Given the description of an element on the screen output the (x, y) to click on. 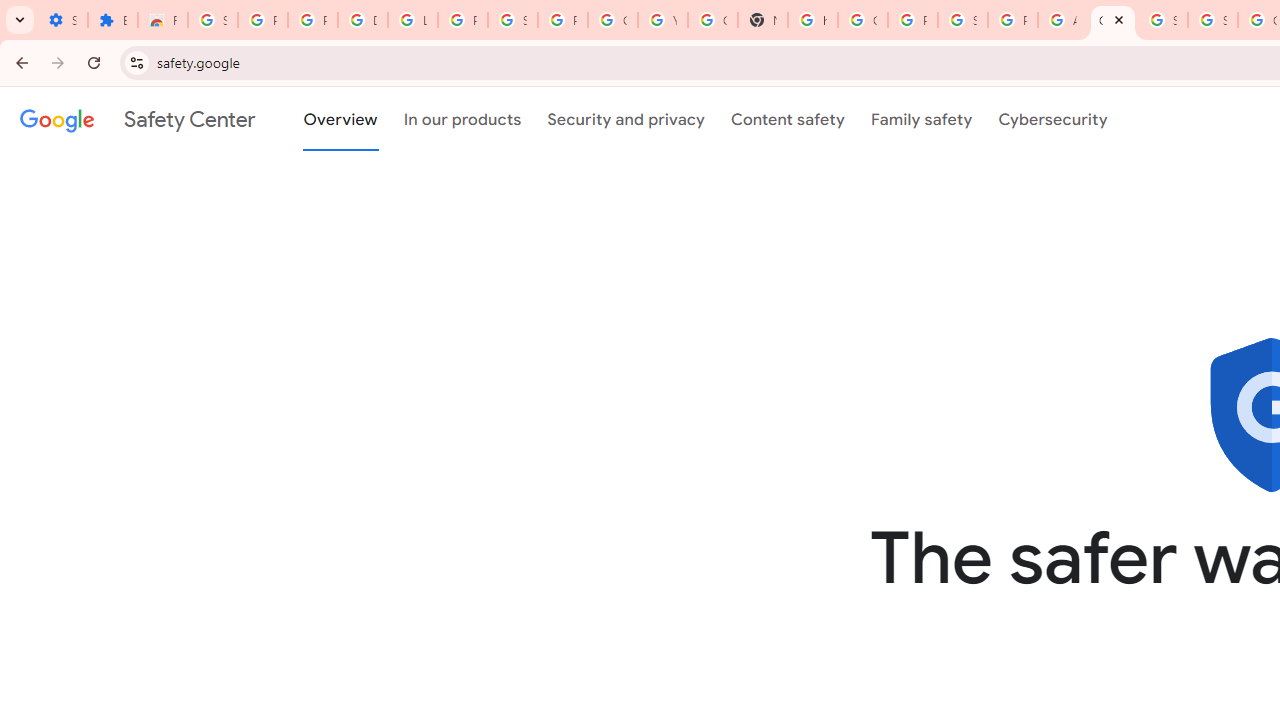
Cybersecurity (1053, 119)
Security and privacy (626, 119)
Sign in - Google Accounts (213, 20)
Reviews: Helix Fruit Jump Arcade Game (163, 20)
Sign in - Google Accounts (1212, 20)
Google Safety Center - Stay Safer Online (1112, 20)
Content safety (787, 119)
